Given the description of an element on the screen output the (x, y) to click on. 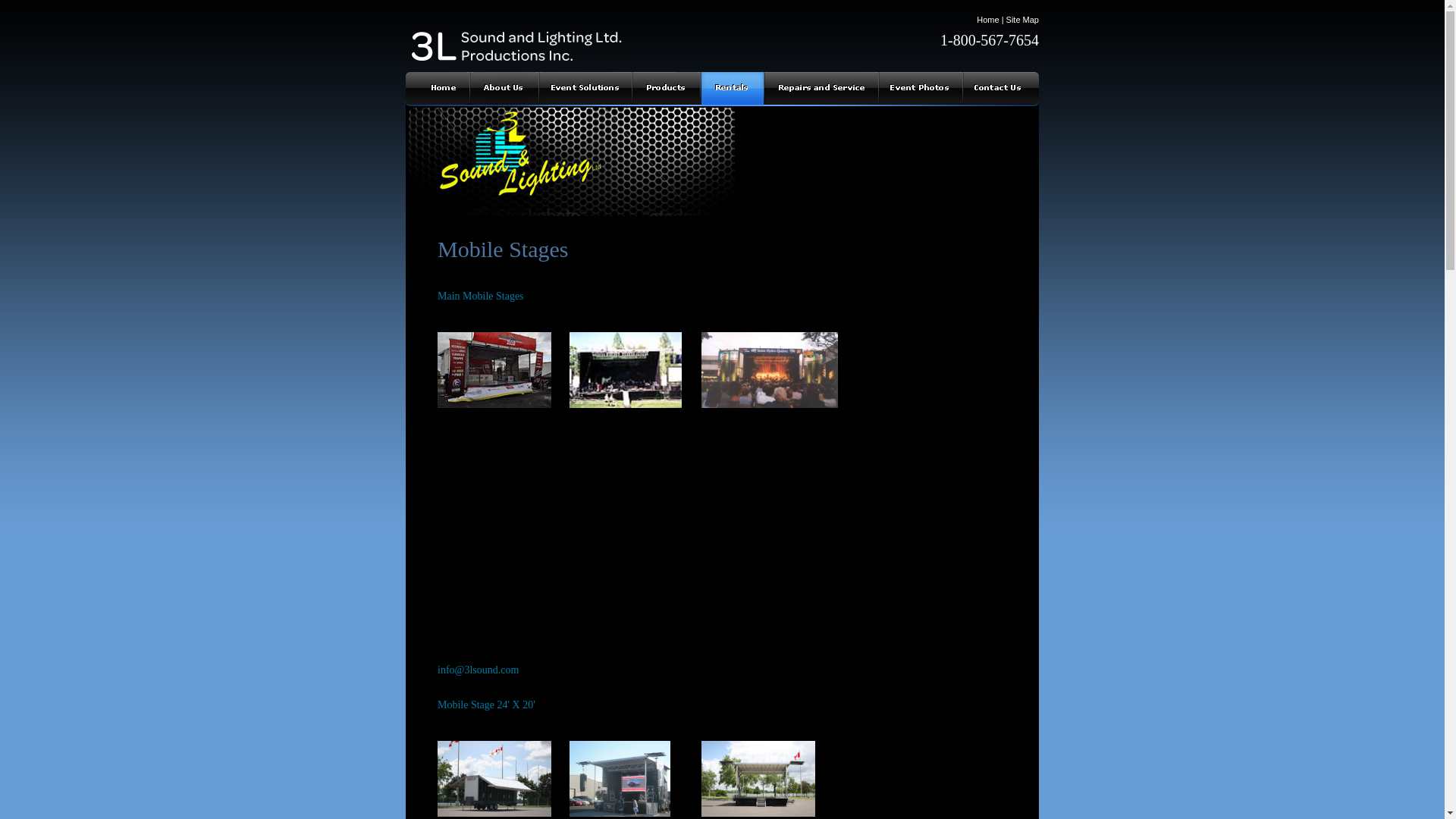
Site Map Element type: text (1022, 19)
Main Mobile Stages Element type: text (480, 295)
About Us Element type: hover (503, 89)
Products Element type: hover (665, 89)
Event Solutions Element type: hover (584, 89)
Home Element type: hover (437, 89)
Event Photos Element type: hover (920, 89)
info@3lsound.com Element type: text (477, 669)
Rentals Element type: hover (731, 89)
Contact Us Element type: hover (1000, 89)
Home Element type: text (987, 19)
Repairs and Service Element type: hover (820, 89)
Mobile Stage 24' X 20' Element type: text (486, 704)
